Given the description of an element on the screen output the (x, y) to click on. 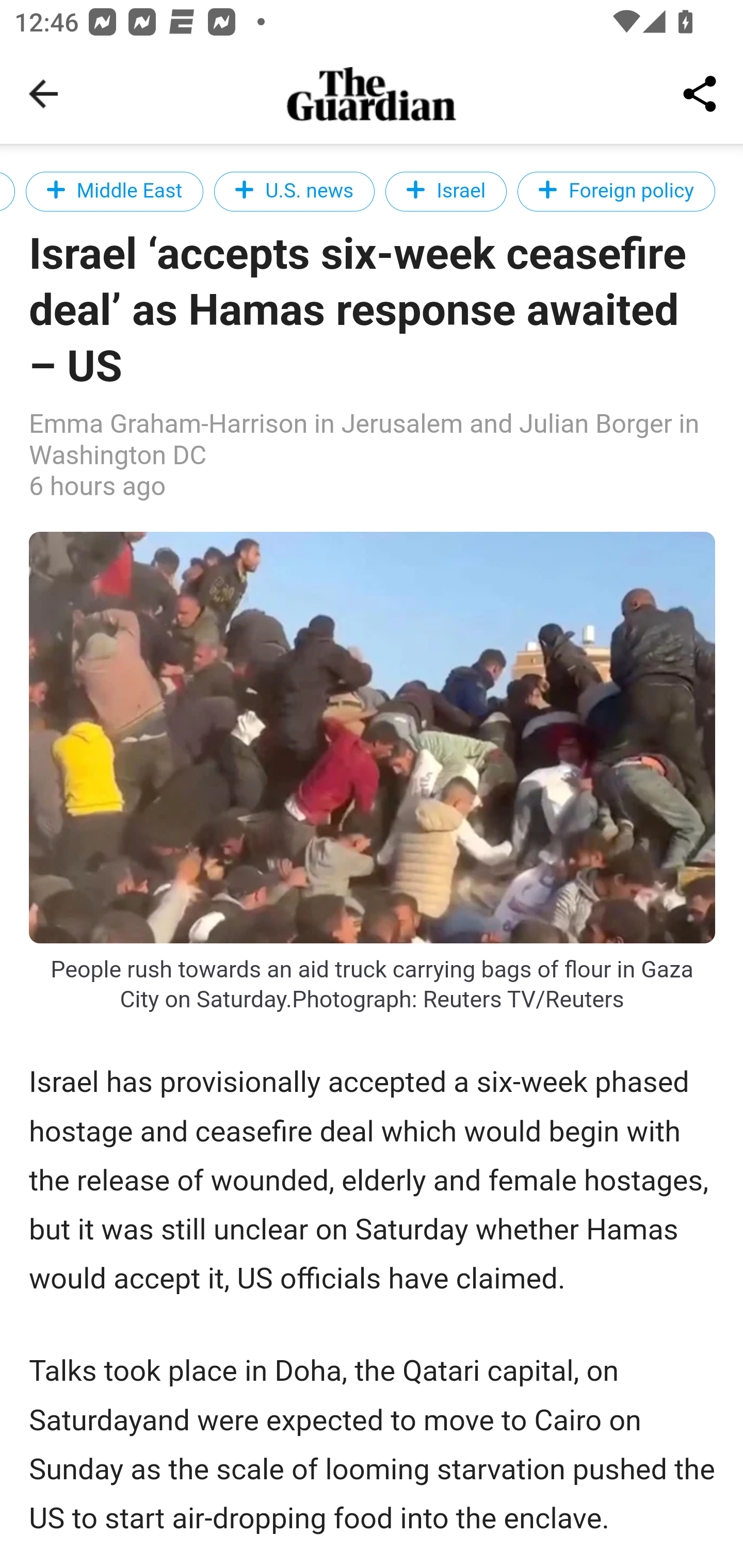
Middle East (114, 191)
U.S. news (294, 191)
Israel (445, 191)
Foreign policy (616, 191)
